Given the description of an element on the screen output the (x, y) to click on. 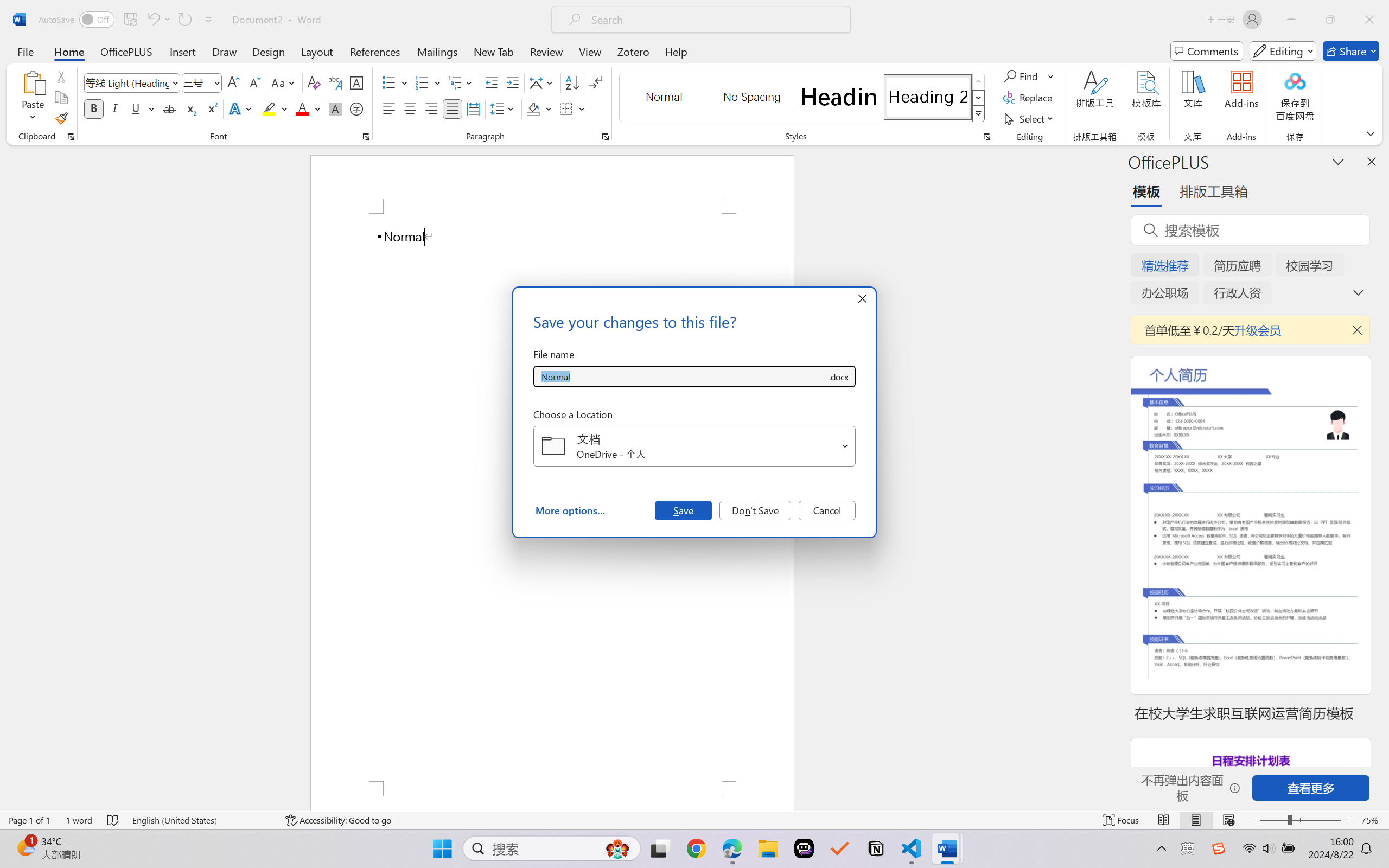
Character Border (356, 82)
Phonetic Guide... (334, 82)
Text Effects and Typography (241, 108)
Select (1030, 118)
Character Shading (334, 108)
Mode (1283, 50)
Layout (316, 51)
Zoom (1300, 819)
Numbering (428, 82)
Italic (115, 108)
Text Highlight Color Yellow (269, 108)
